Given the description of an element on the screen output the (x, y) to click on. 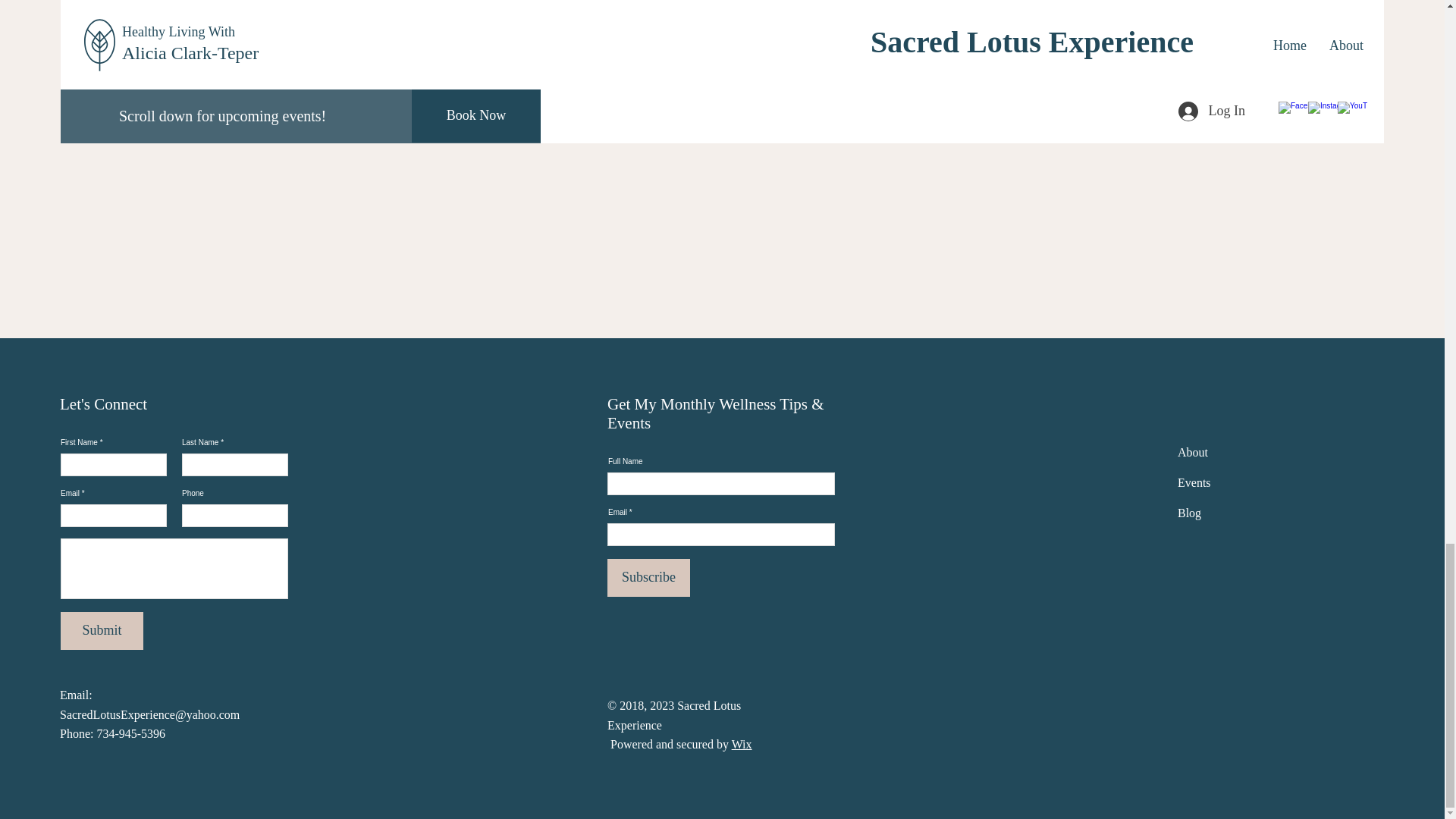
Events (1194, 481)
Wix (742, 744)
Submit (101, 630)
About (1192, 451)
Subscribe (648, 577)
Blog (1189, 512)
